Given the description of an element on the screen output the (x, y) to click on. 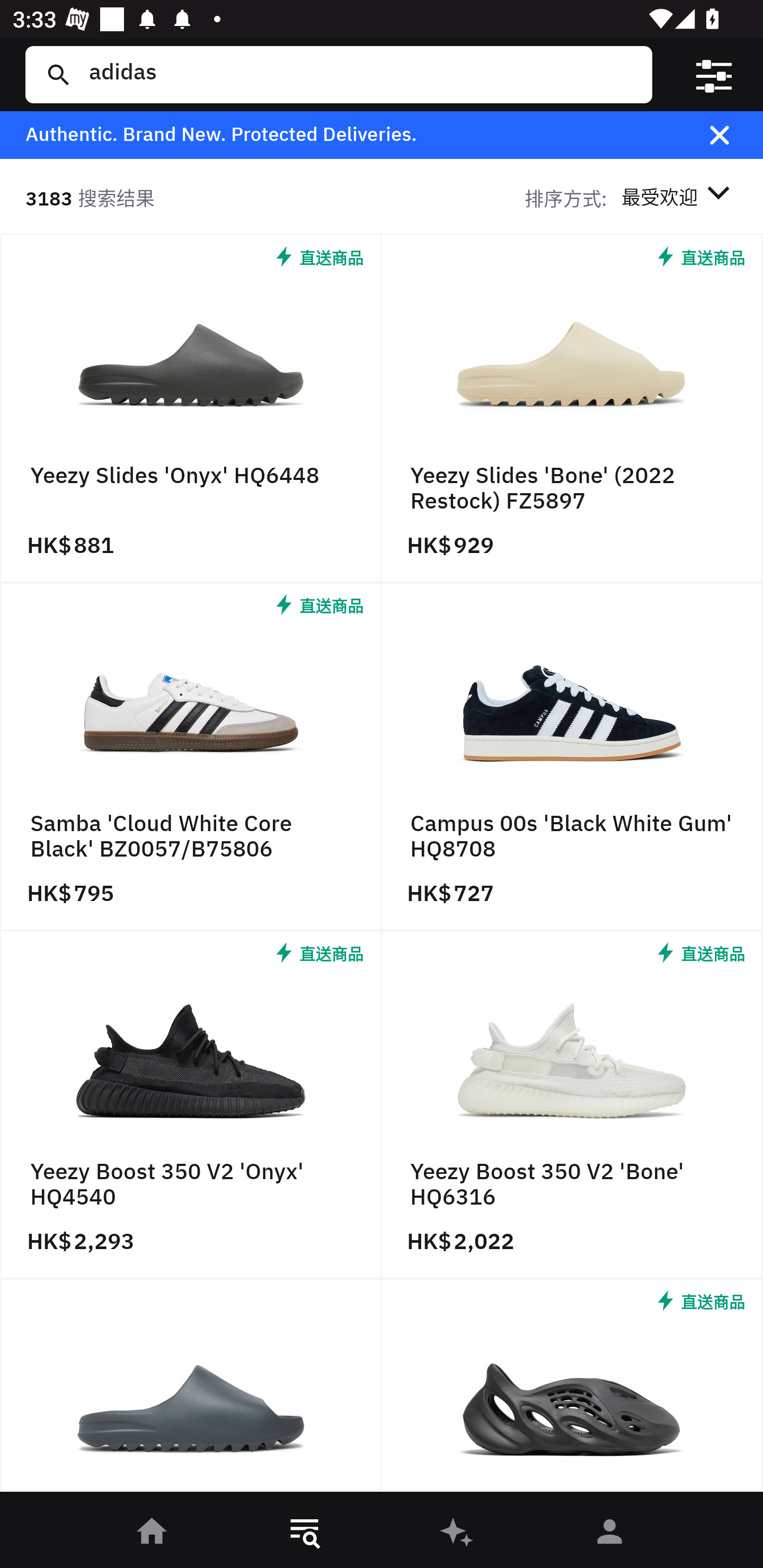
adidas (358, 74)
 (713, 74)
Authentic. Brand New. Protected Deliveries. (350, 134)
 (732, 134)
最受欢迎  (678, 196)
 直送商品 Yeezy Slides 'Onyx' HQ6448 HK$ 881 (190, 409)
Campus 00s 'Black White Gum' HQ8708 HK$ 727 (572, 757)
 直送商品 Yeezy Boost 350 V2 'Onyx' HQ4540 HK$ 2,293 (190, 1105)
 直送商品 Yeezy Boost 350 V2 'Bone' HQ6316 HK$ 2,022 (572, 1105)
 直送商品 (572, 1389)
󰋜 (152, 1532)
󱎸 (305, 1532)
󰫢 (457, 1532)
󰀄 (610, 1532)
